Given the description of an element on the screen output the (x, y) to click on. 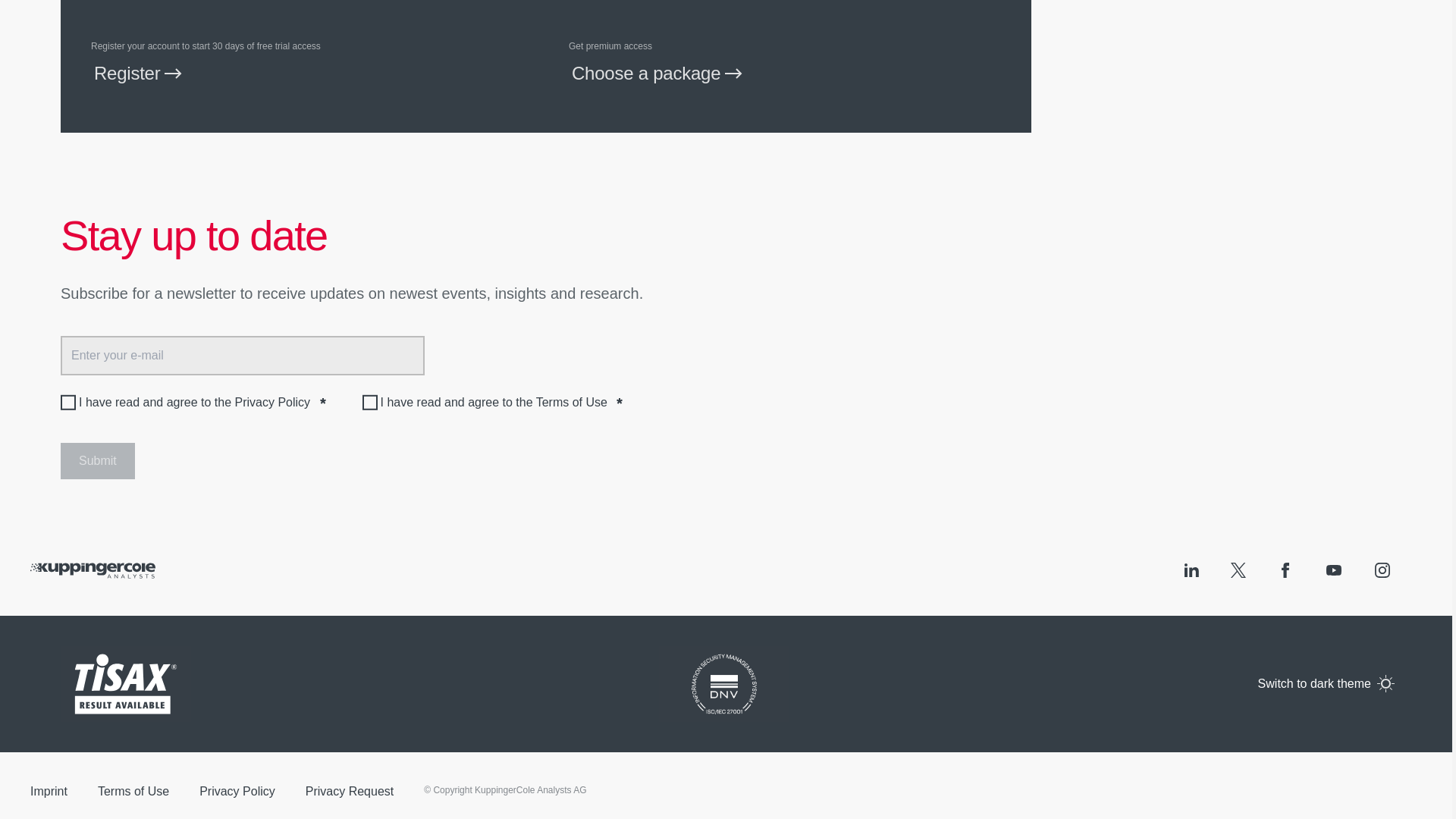
on (369, 402)
on (68, 402)
Switch to dark theme (1385, 683)
TISAX result available (125, 683)
